Given the description of an element on the screen output the (x, y) to click on. 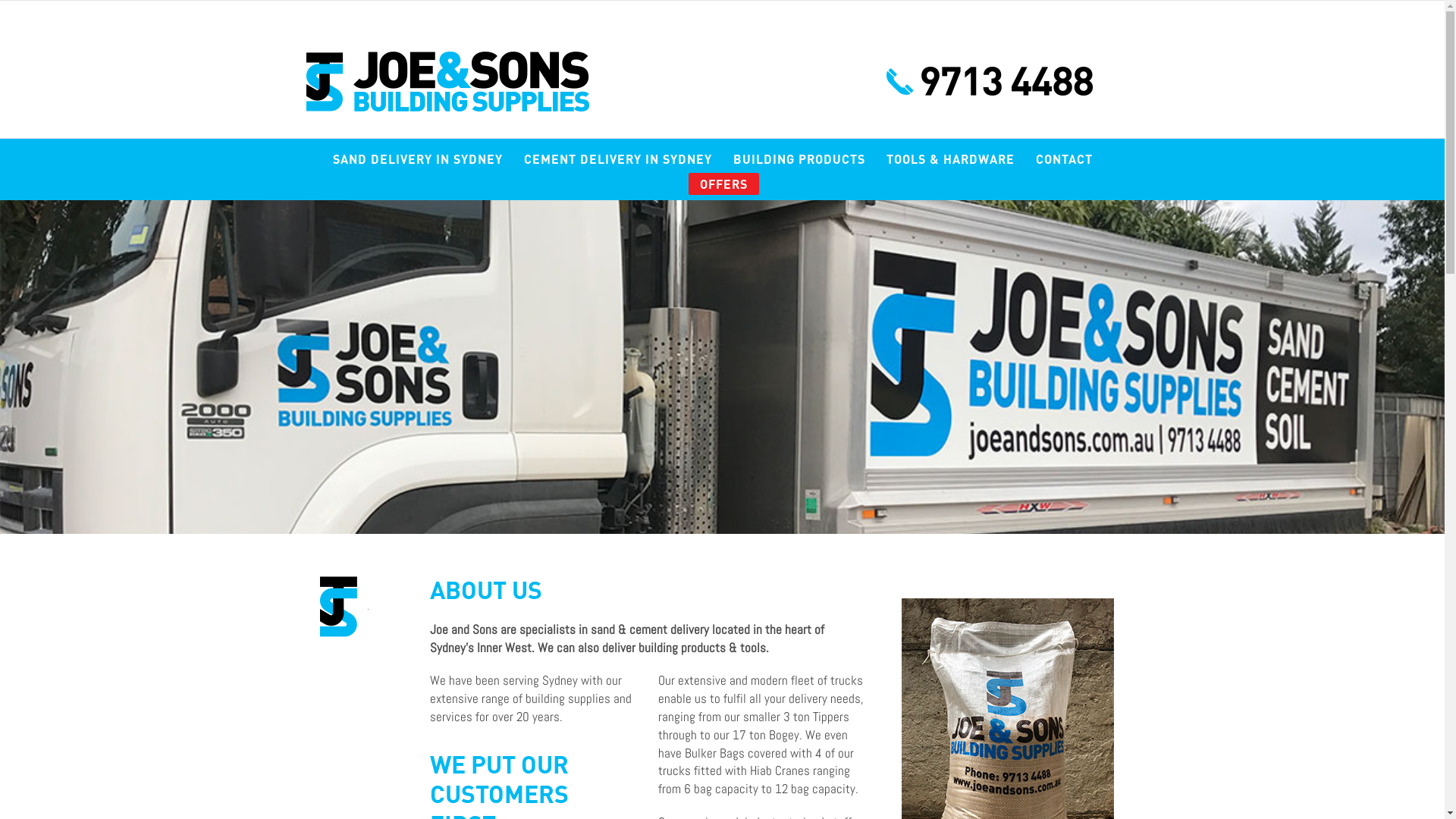
OFFERS Element type: text (723, 184)
BUILDING PRODUCTS Element type: text (799, 153)
CONTACT Element type: text (1063, 153)
favicon Element type: hover (335, 606)
TOOLS & HARDWARE Element type: text (950, 153)
CEMENT DELIVERY IN SYDNEY Element type: text (618, 153)
SAND DELIVERY IN SYDNEY Element type: text (417, 153)
